Given the description of an element on the screen output the (x, y) to click on. 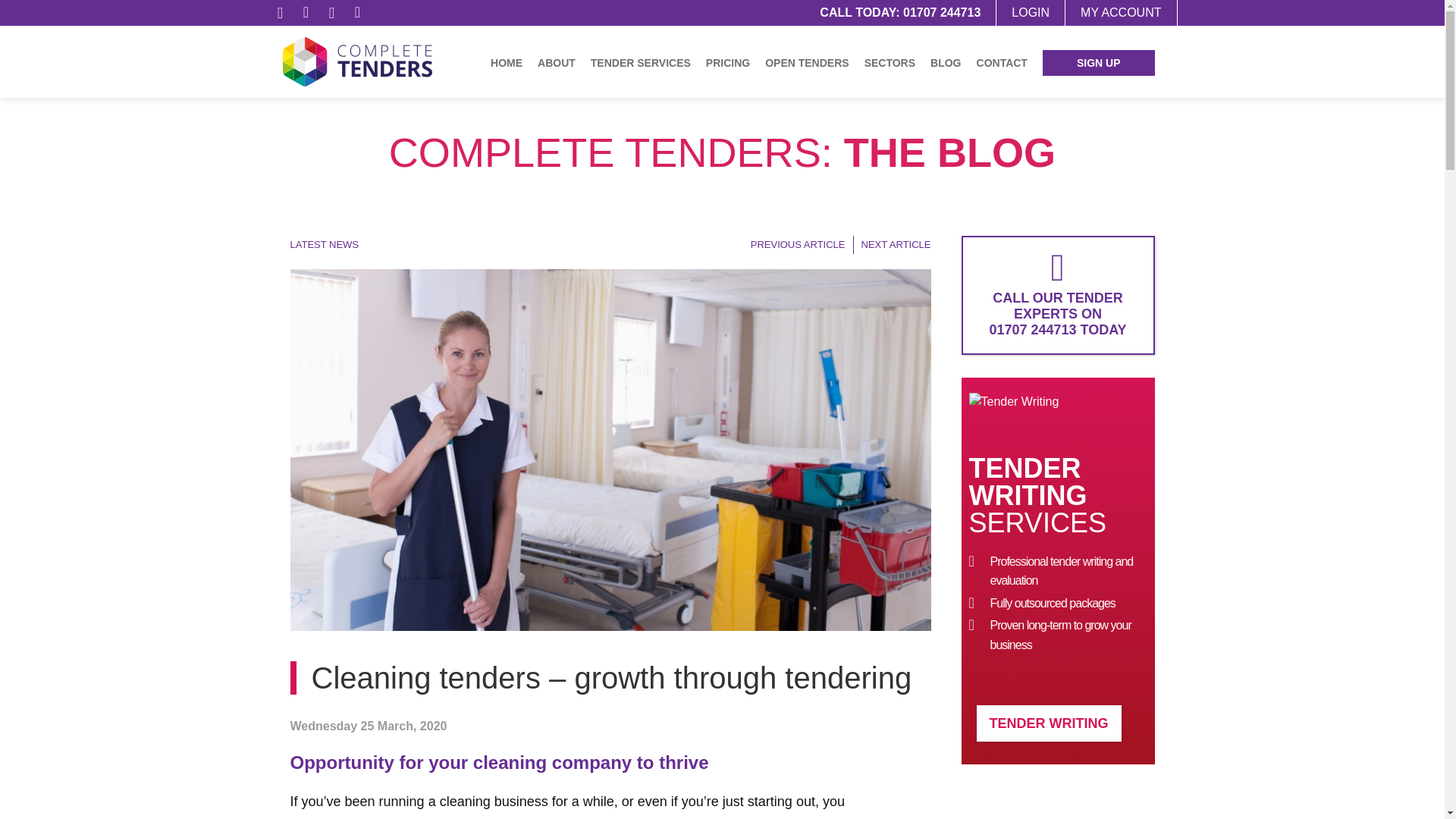
Tender Writing Services (1048, 723)
01707 244713 (940, 11)
TENDER SERVICES (640, 62)
MY ACCOUNT (1120, 12)
ABOUT (556, 62)
LOGIN (1029, 12)
OPEN TENDERS (806, 62)
PRICING (727, 62)
HOME (506, 62)
SECTORS (890, 62)
